Given the description of an element on the screen output the (x, y) to click on. 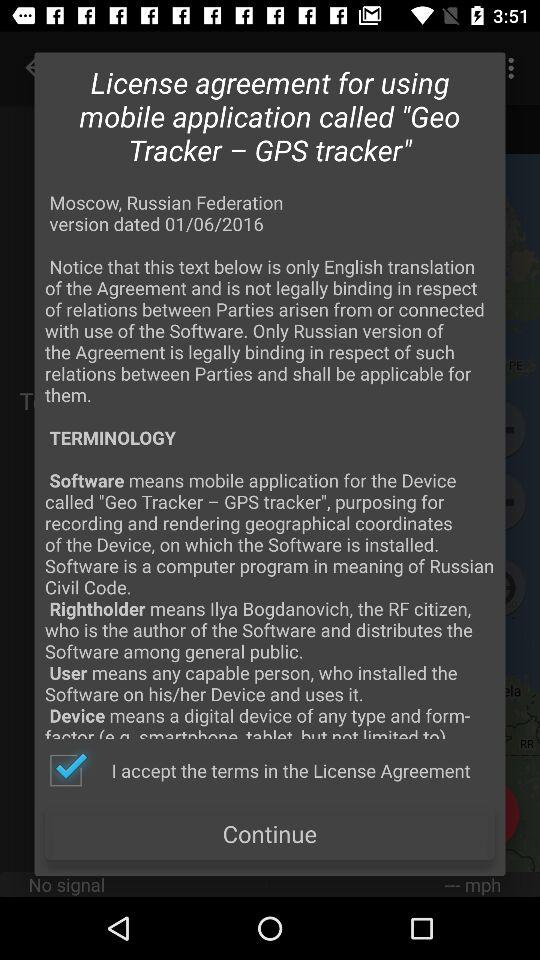
flip until moscow russian federation icon (270, 464)
